Given the description of an element on the screen output the (x, y) to click on. 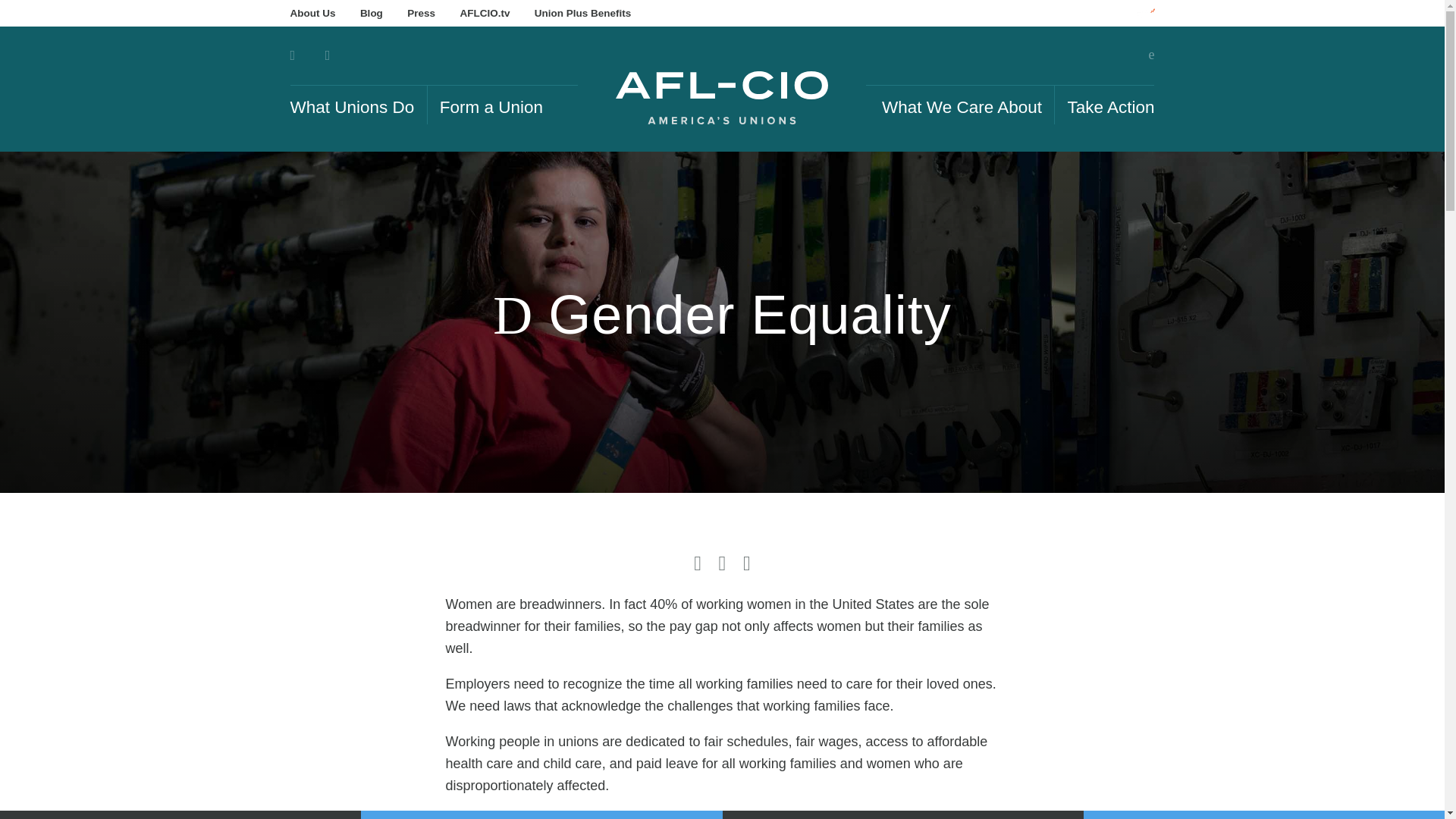
AFL-CIO (721, 97)
Form a Union (491, 104)
What Unions Do (351, 104)
Union Plus Benefits (582, 12)
Press (421, 12)
About Us (311, 12)
AFLCIO.tv (484, 12)
Blog (370, 12)
